Given the description of an element on the screen output the (x, y) to click on. 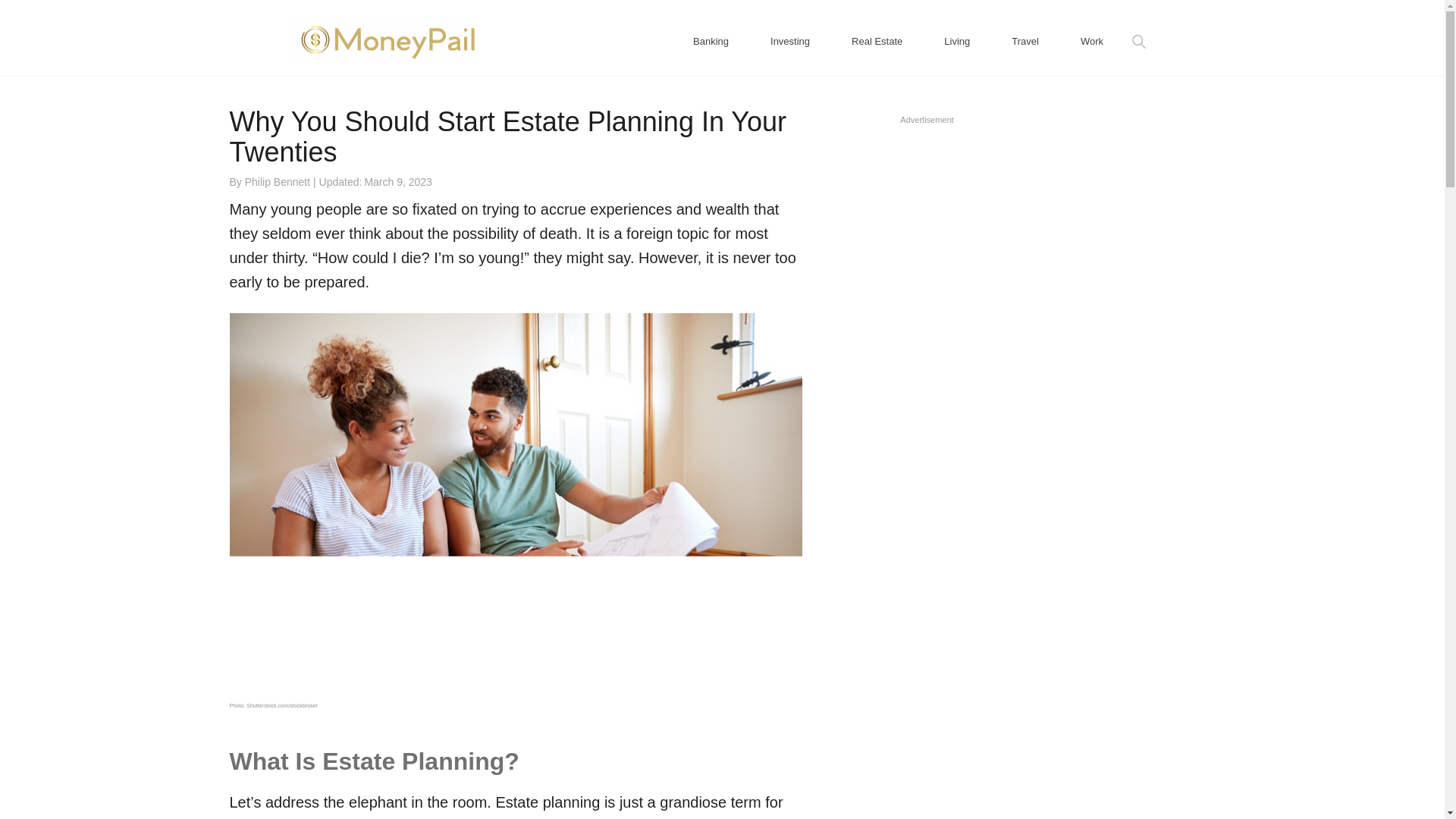
Investing (790, 30)
Living (956, 30)
Real Estate (877, 30)
Work (1091, 30)
Banking (711, 30)
Travel (1025, 30)
